Given the description of an element on the screen output the (x, y) to click on. 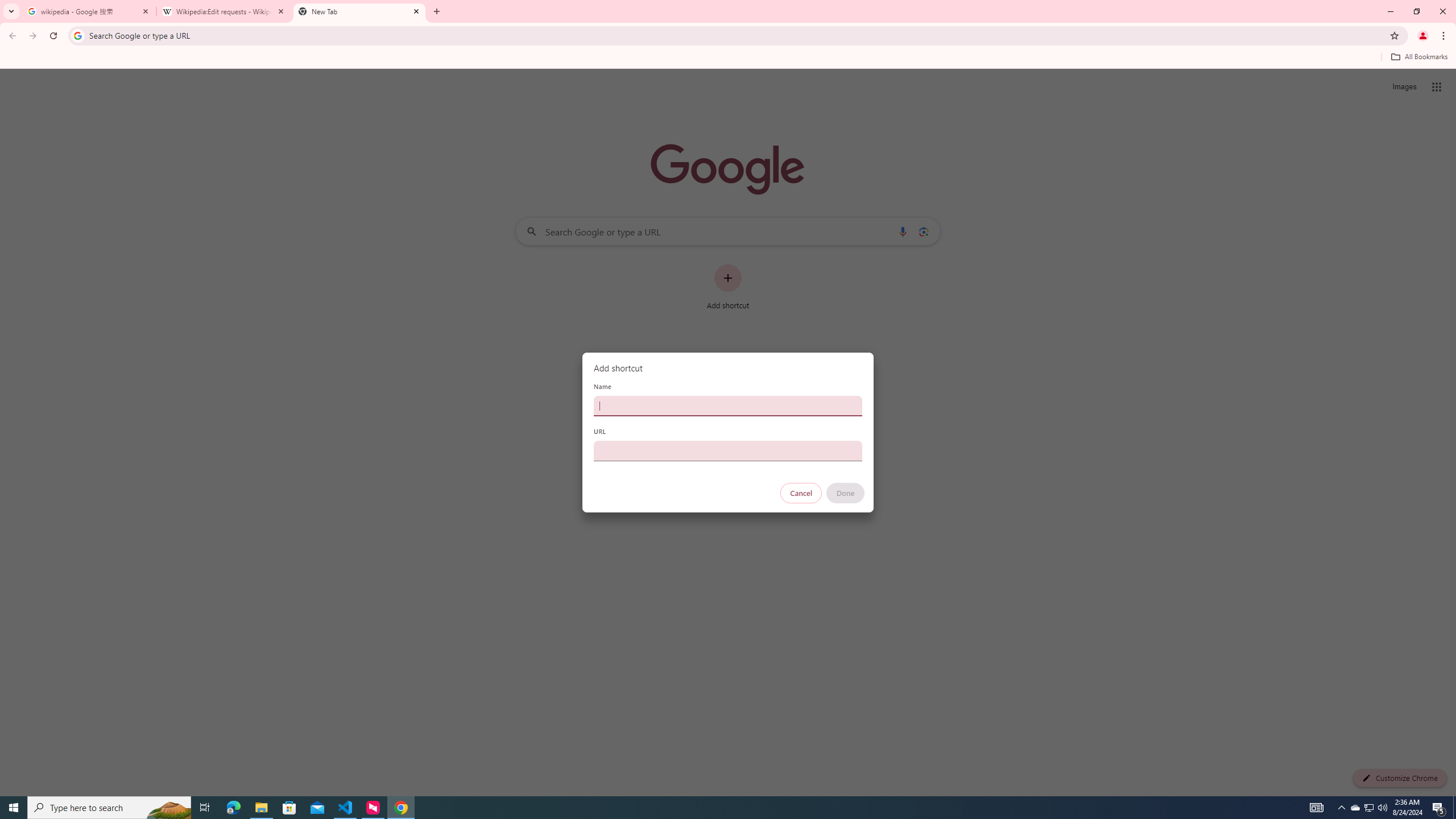
Done (845, 493)
Cancel (801, 493)
Wikipedia:Edit requests - Wikipedia (224, 11)
